Given the description of an element on the screen output the (x, y) to click on. 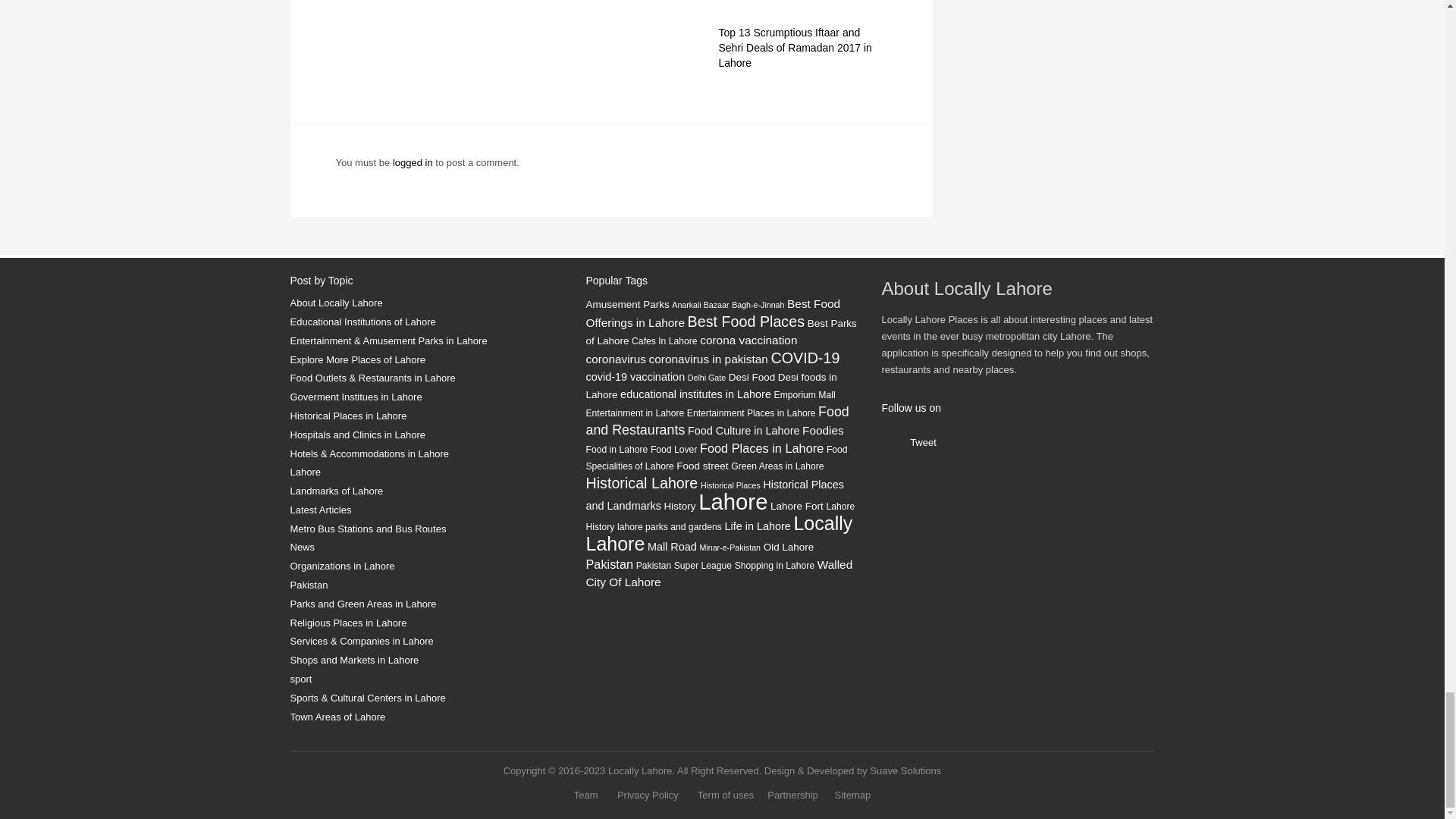
Knows everything about Locally Lahore (425, 303)
